Given the description of an element on the screen output the (x, y) to click on. 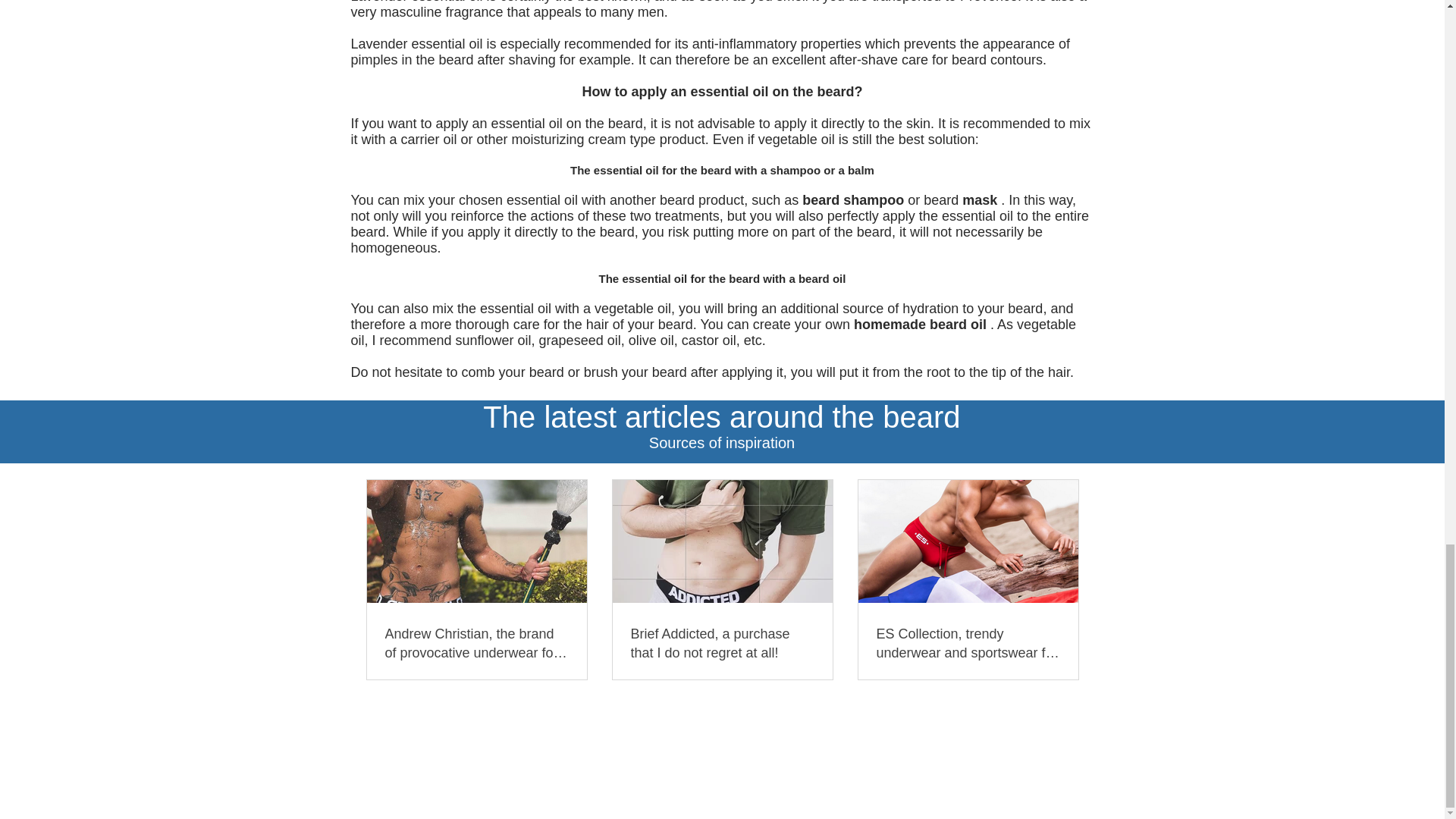
blog - Beard blog (742, 721)
homemade beard oil (920, 324)
Contact (631, 721)
About (514, 721)
mask (979, 200)
ES Collection, trendy underwear and sportswear for men (967, 643)
Legal notice (831, 721)
Brief Addicted, a purchase that I do not regret at all! (721, 643)
Andrew Christian, the brand of provocative underwear for men (477, 643)
beard shampoo (853, 200)
Privacy policy (911, 721)
Partnership (569, 721)
